Given the description of an element on the screen output the (x, y) to click on. 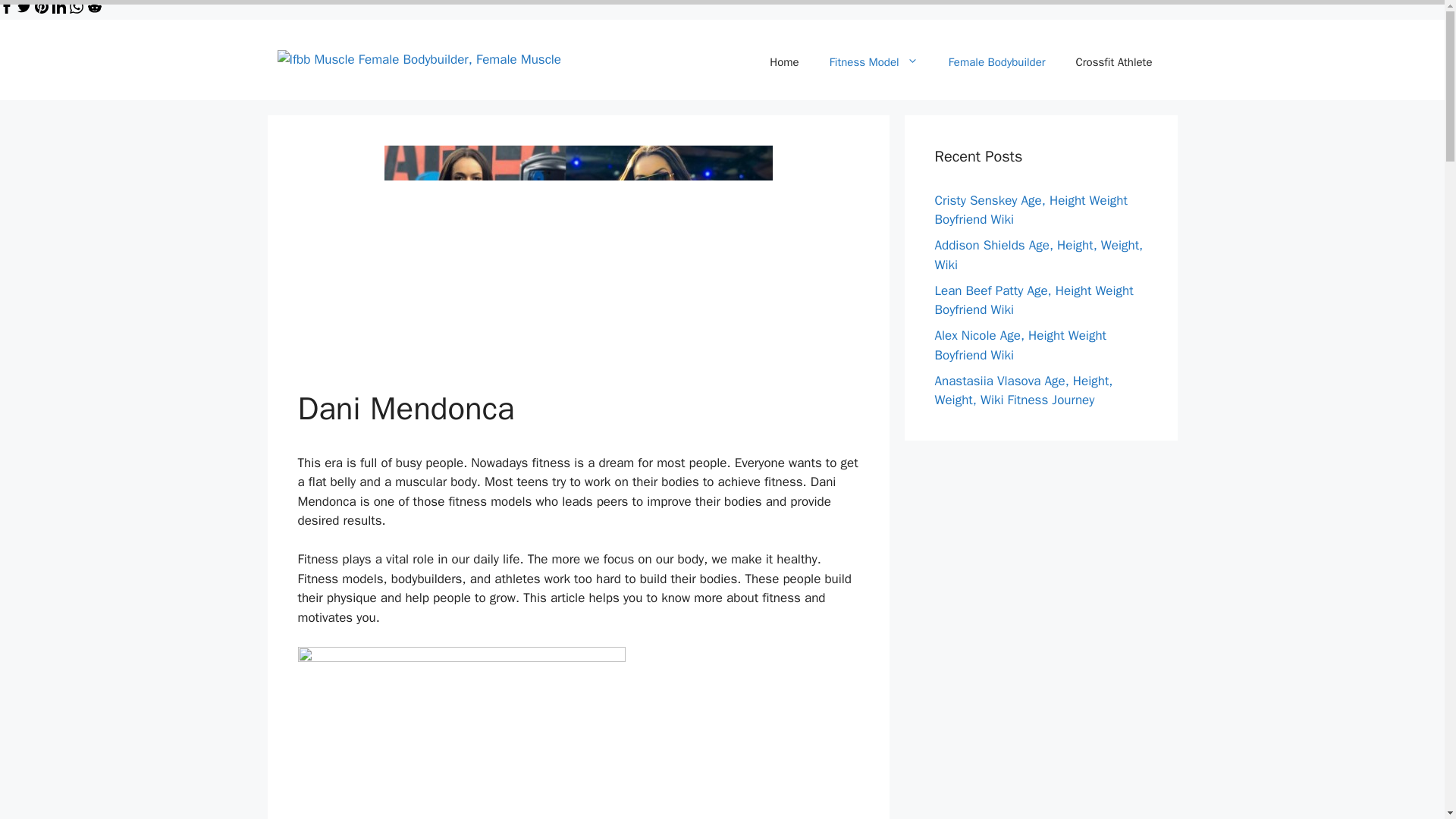
Female Bodybuilder (997, 62)
Crossfit Athlete (1114, 62)
Dani Mendonca 1 (577, 254)
Fitness Model (873, 62)
Home (783, 62)
Dani Mendonca 2 (460, 733)
